Given the description of an element on the screen output the (x, y) to click on. 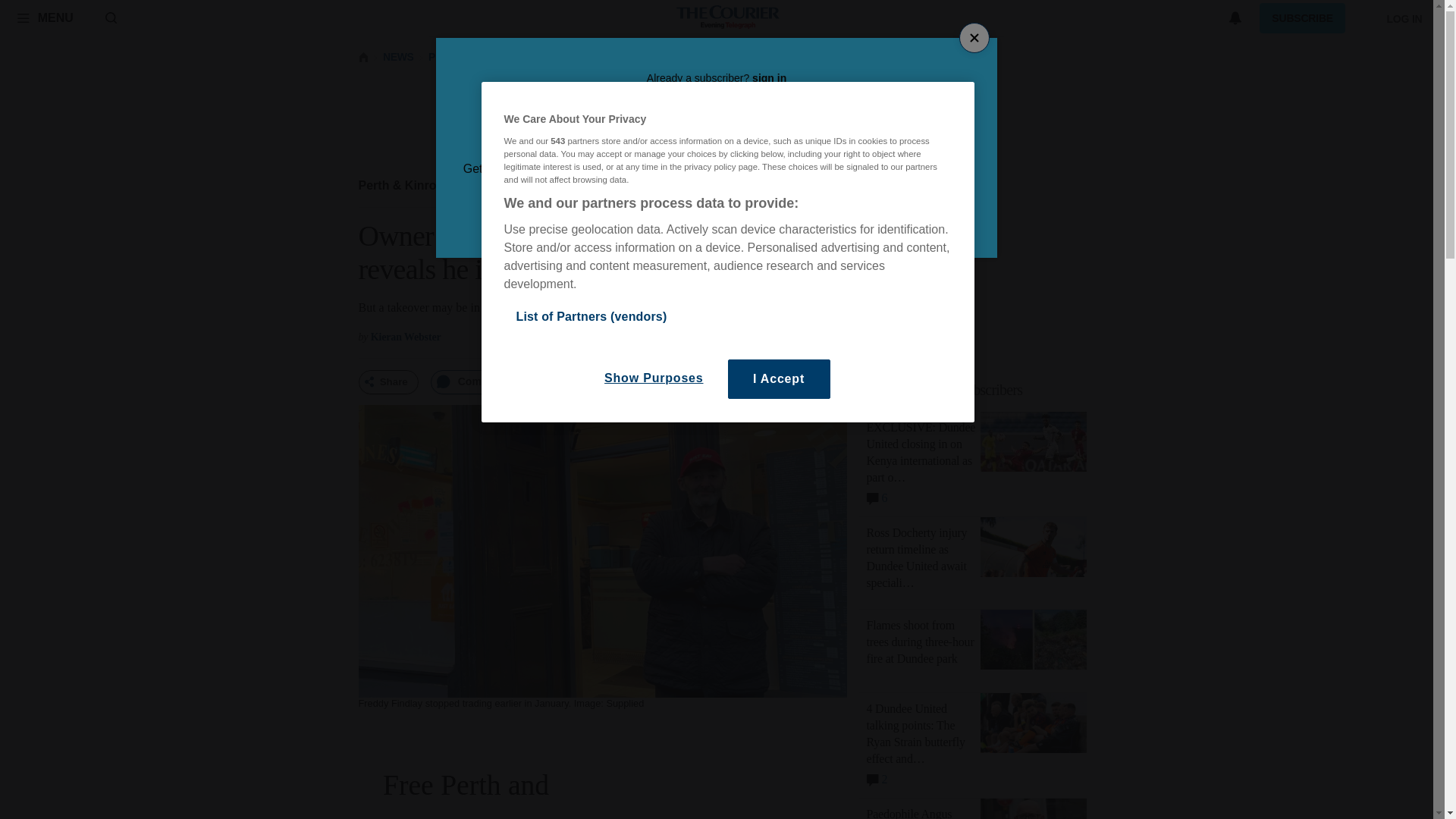
The Courier (727, 17)
6 (876, 495)
MENU (44, 17)
2 (876, 776)
Exclusive to our subscribers (944, 389)
